Given the description of an element on the screen output the (x, y) to click on. 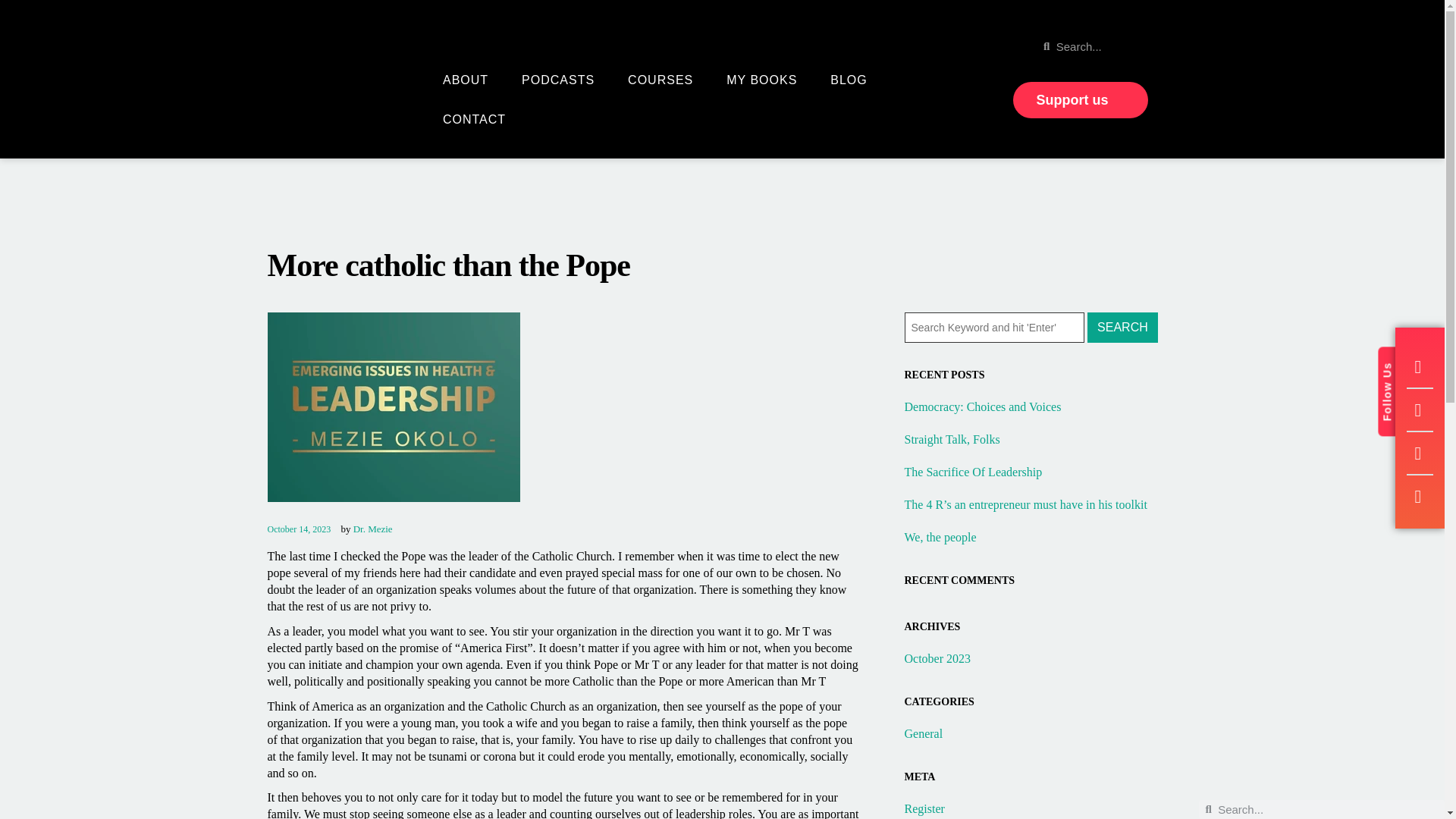
COURSES (660, 79)
ABOUT (464, 79)
BLOG (847, 79)
Search (1122, 327)
PODCASTS (557, 79)
CONTACT (473, 119)
Search (1122, 327)
MY BOOKS (761, 79)
